Given the description of an element on the screen output the (x, y) to click on. 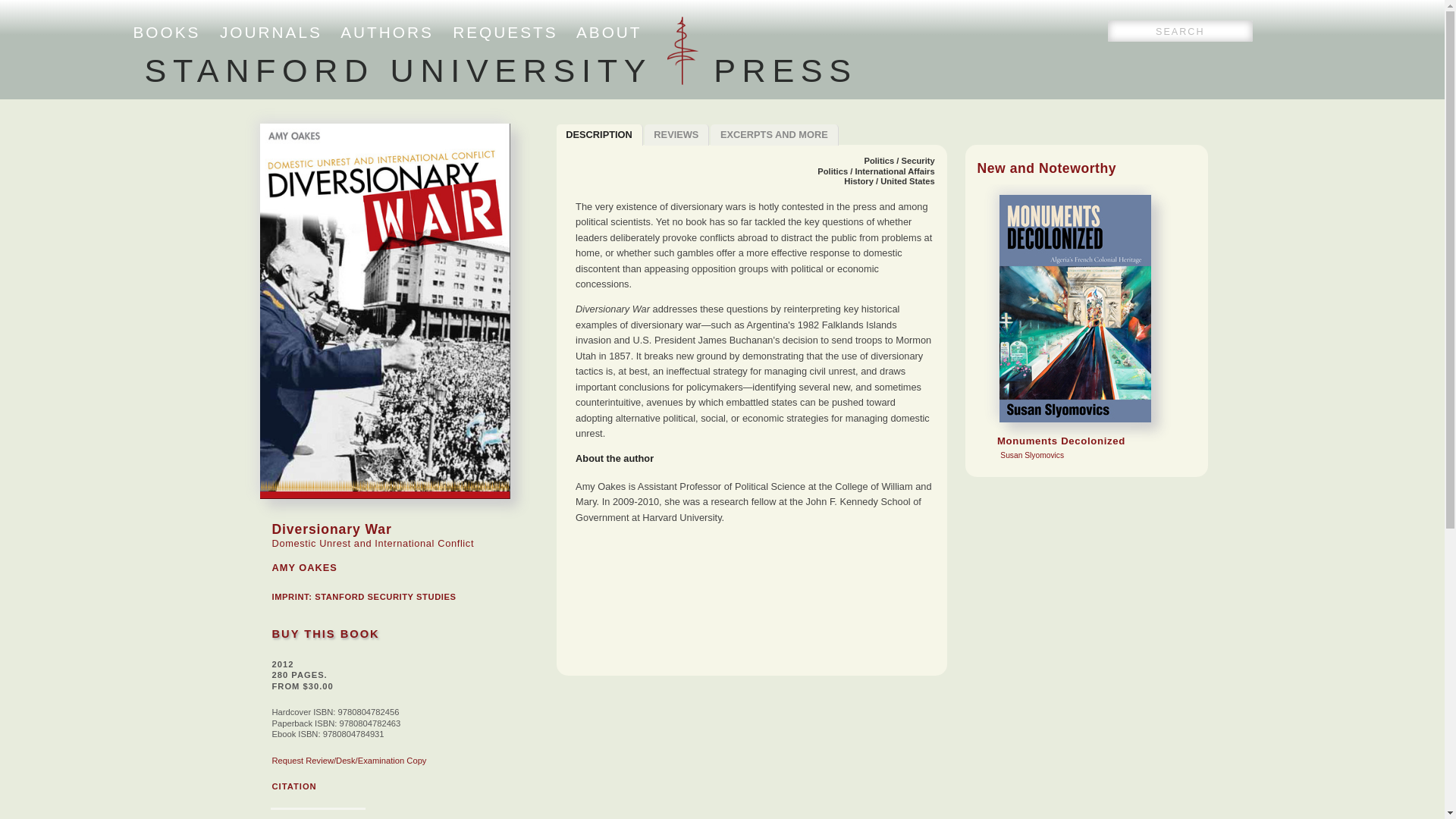
REQUESTS (504, 31)
DESCRIPTION (599, 134)
BUY THIS BOOK (324, 633)
ABOUT (774, 134)
STANFORD UNIVERSITY PRESS (609, 31)
BOOKS (500, 70)
CITATION (166, 31)
AUTHORS (292, 786)
REVIEWS (386, 31)
STANFORD SECURITY STUDIES (677, 134)
JOURNALS (384, 596)
